Given the description of an element on the screen output the (x, y) to click on. 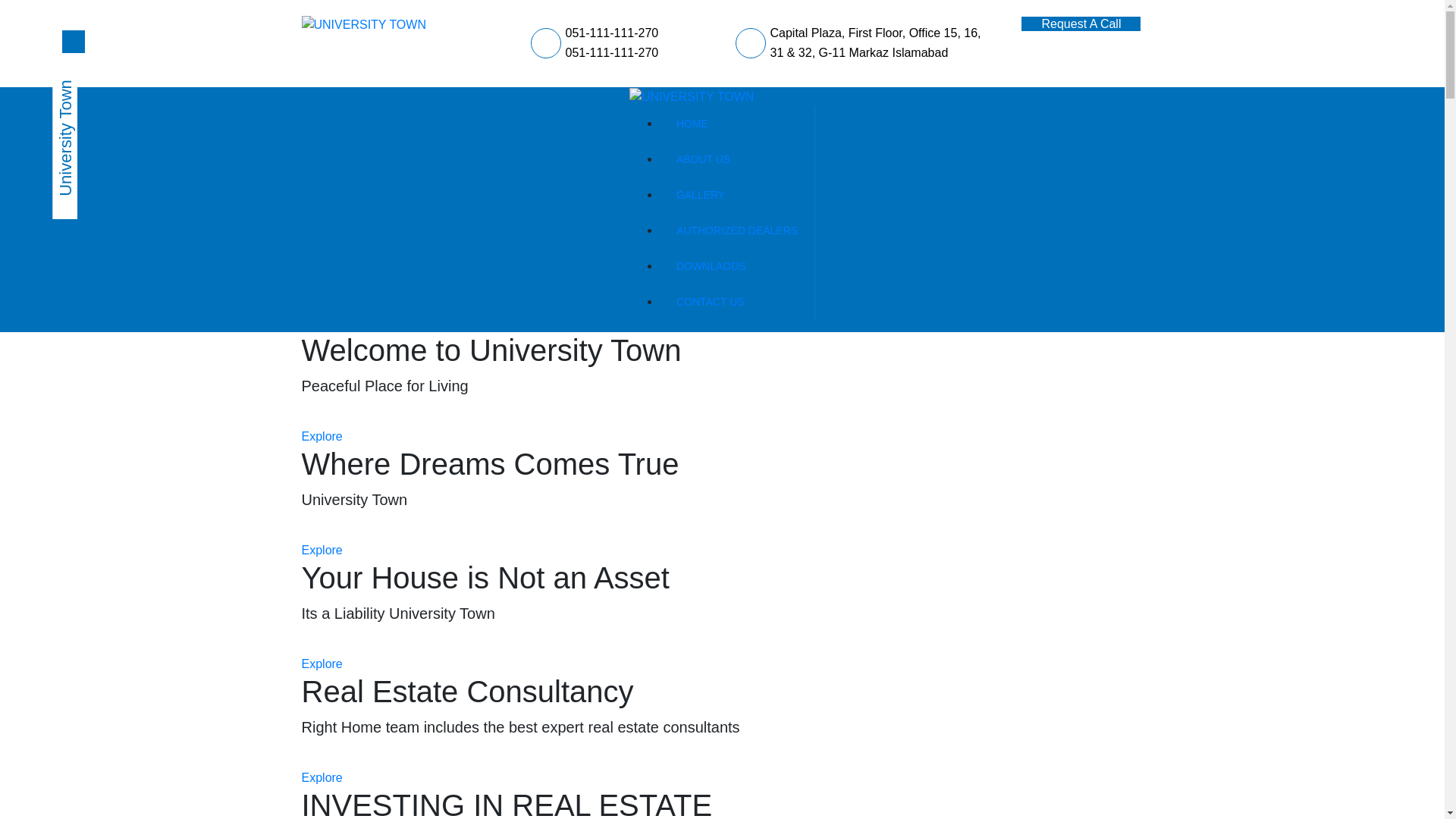
Explore (321, 549)
Explore (321, 436)
Explore (321, 777)
CONTACT US (737, 302)
ABOUT US (737, 159)
AUTHORIZED DEALERS (737, 230)
DOWNLAODS (737, 266)
Request A Call (1081, 23)
GALLERY (737, 194)
HOME (737, 123)
